Given the description of an element on the screen output the (x, y) to click on. 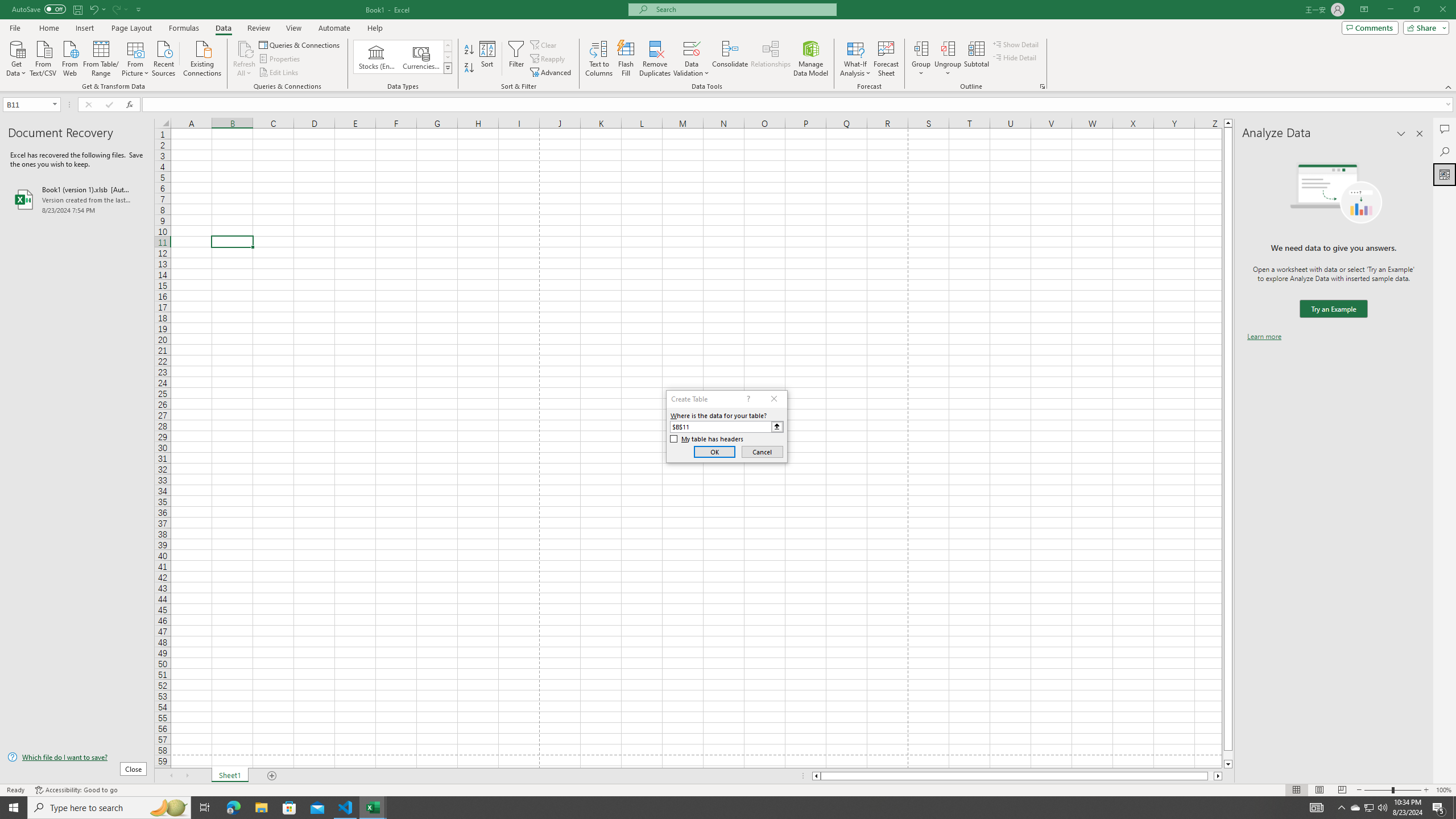
Consolidate... (729, 58)
